Given the description of an element on the screen output the (x, y) to click on. 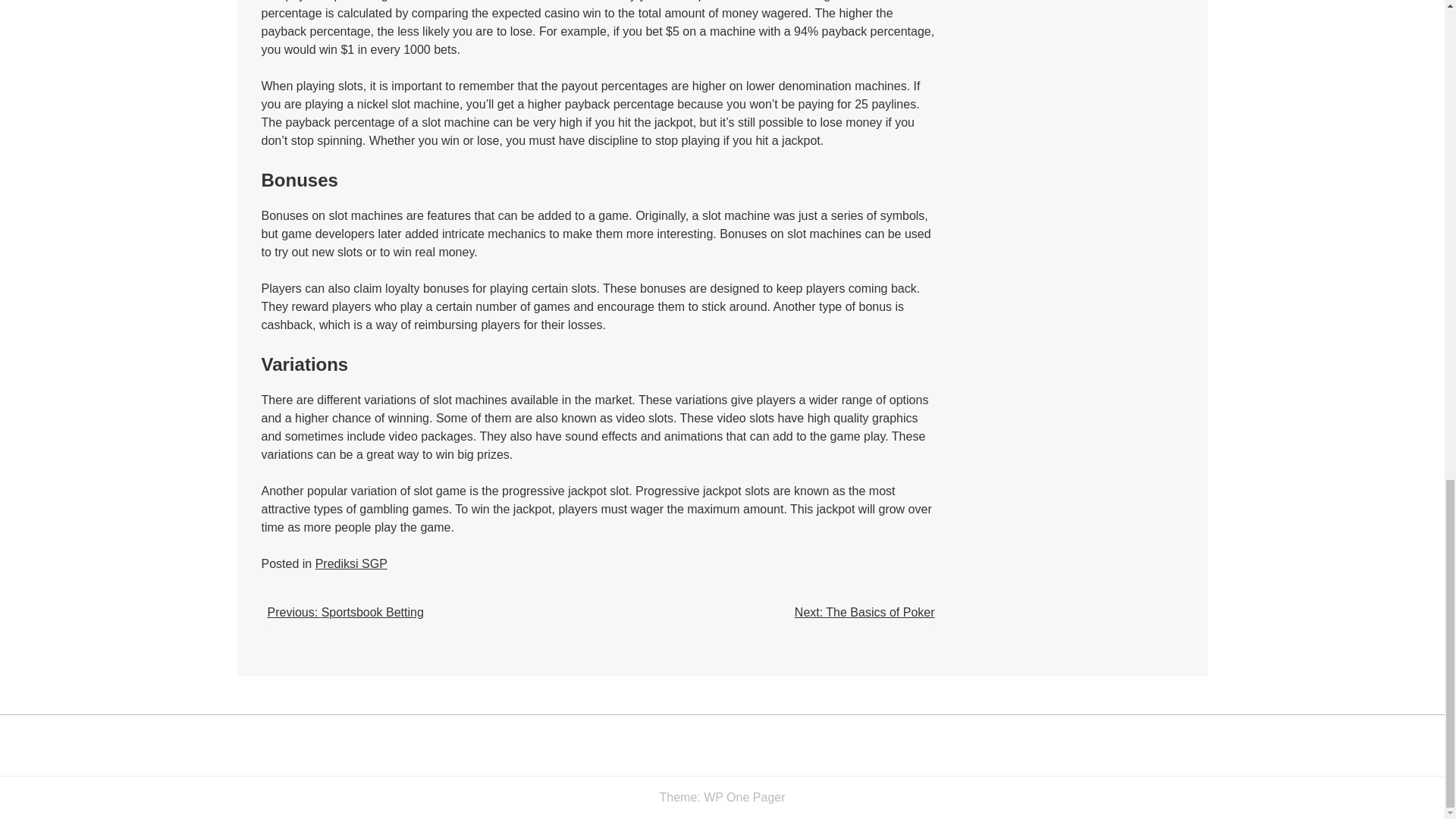
Prediksi SGP (351, 563)
Previous: Sportsbook Betting (344, 612)
Next: The Basics of Poker (864, 612)
WP One Pager (743, 797)
